Given the description of an element on the screen output the (x, y) to click on. 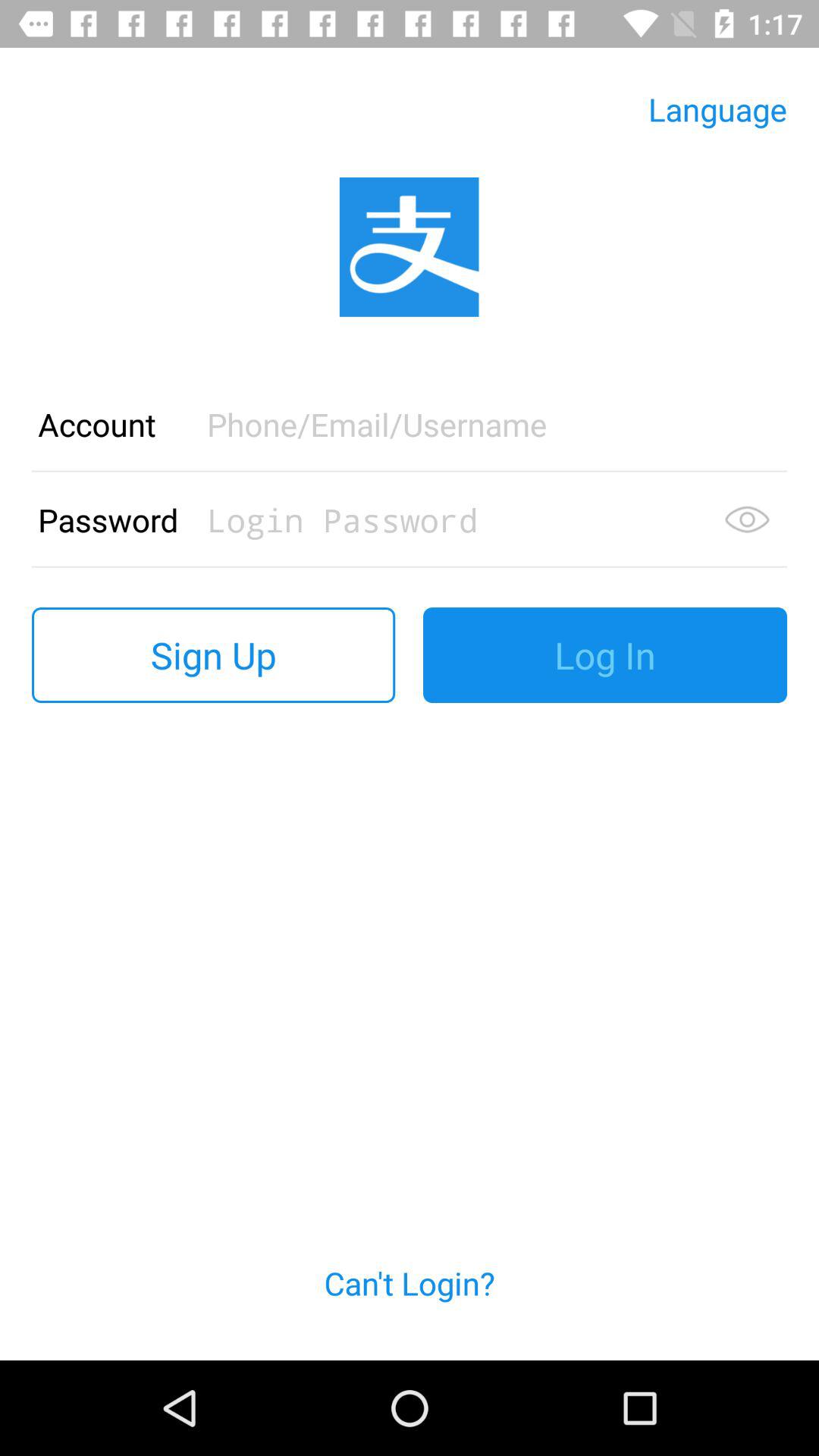
swipe to the log in icon (605, 654)
